Given the description of an element on the screen output the (x, y) to click on. 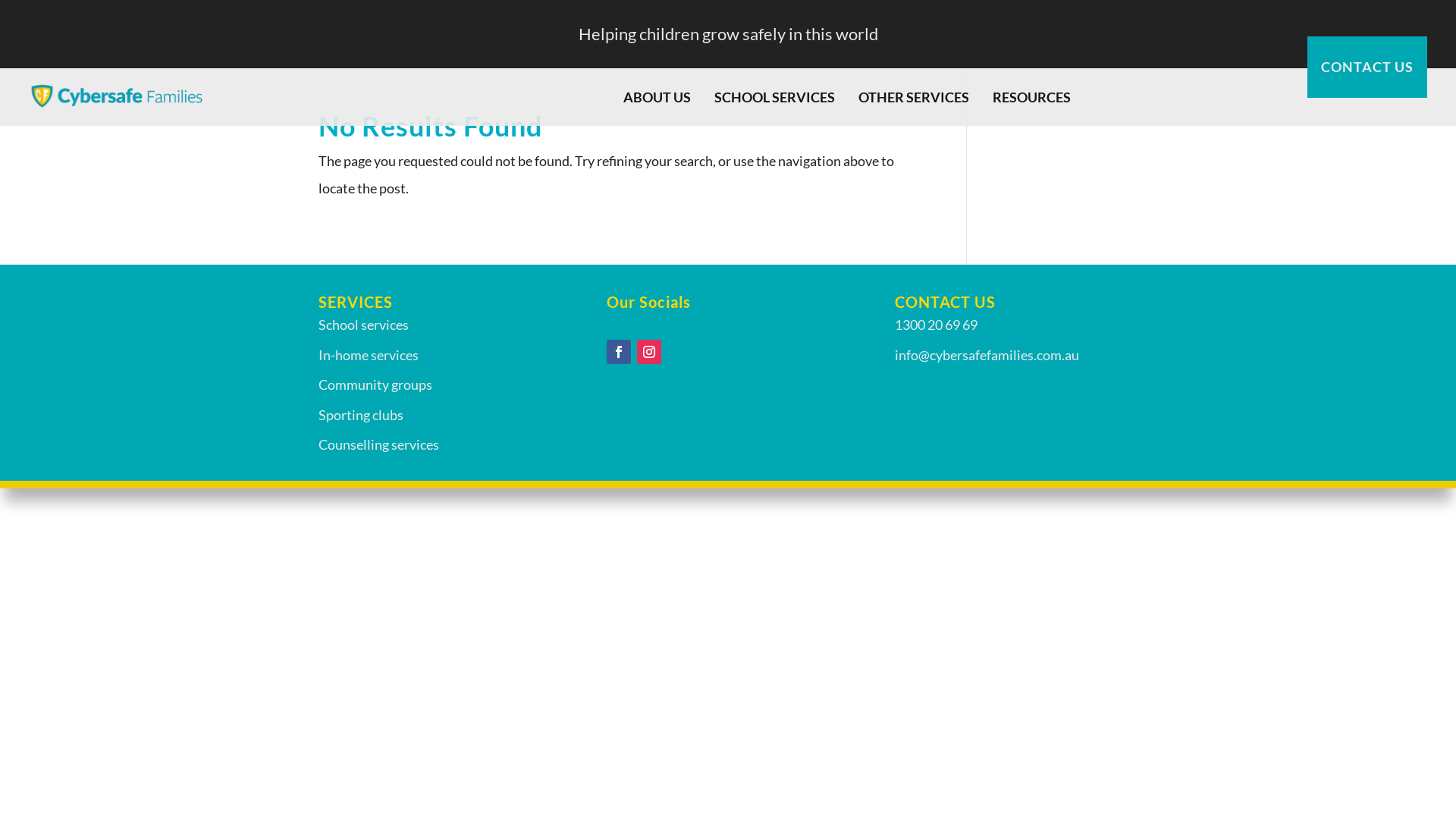
info@cybersafefamilies.com.au Element type: text (986, 354)
CONTACT US Element type: text (1367, 66)
Follow on Instagram Element type: hover (649, 351)
School services Element type: text (363, 324)
RESOURCES Element type: text (1038, 96)
ABOUT US Element type: text (664, 96)
OTHER SERVICES Element type: text (921, 96)
In-home services Element type: text (368, 354)
Community groups Element type: text (375, 384)
Counselling services Element type: text (378, 444)
Sporting clubs Element type: text (360, 414)
Follow on Facebook Element type: hover (618, 351)
SCHOOL SERVICES Element type: text (782, 96)
